Given the description of an element on the screen output the (x, y) to click on. 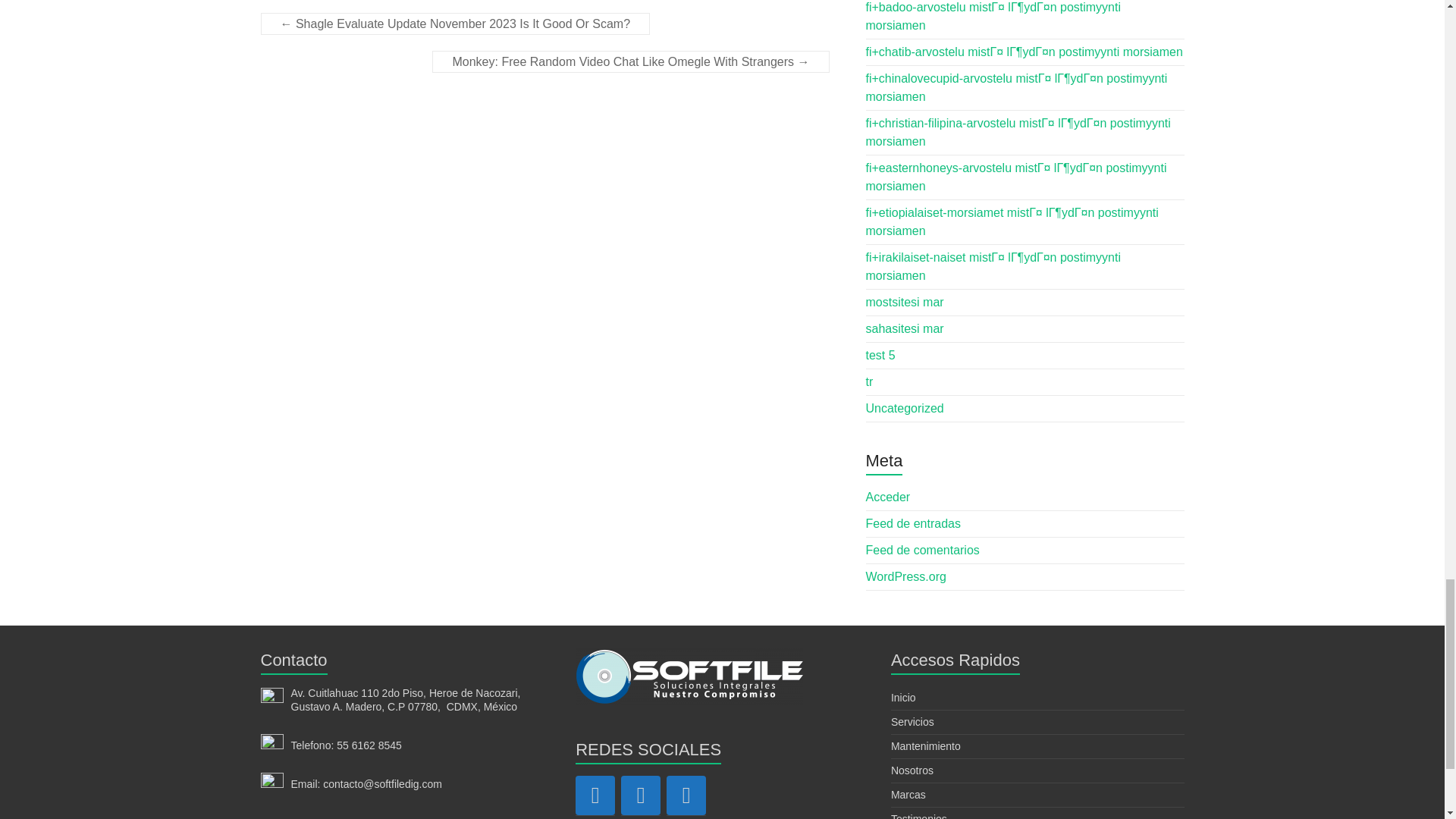
Instagram (641, 794)
Facebook (594, 794)
LinkedIn (686, 794)
